Given the description of an element on the screen output the (x, y) to click on. 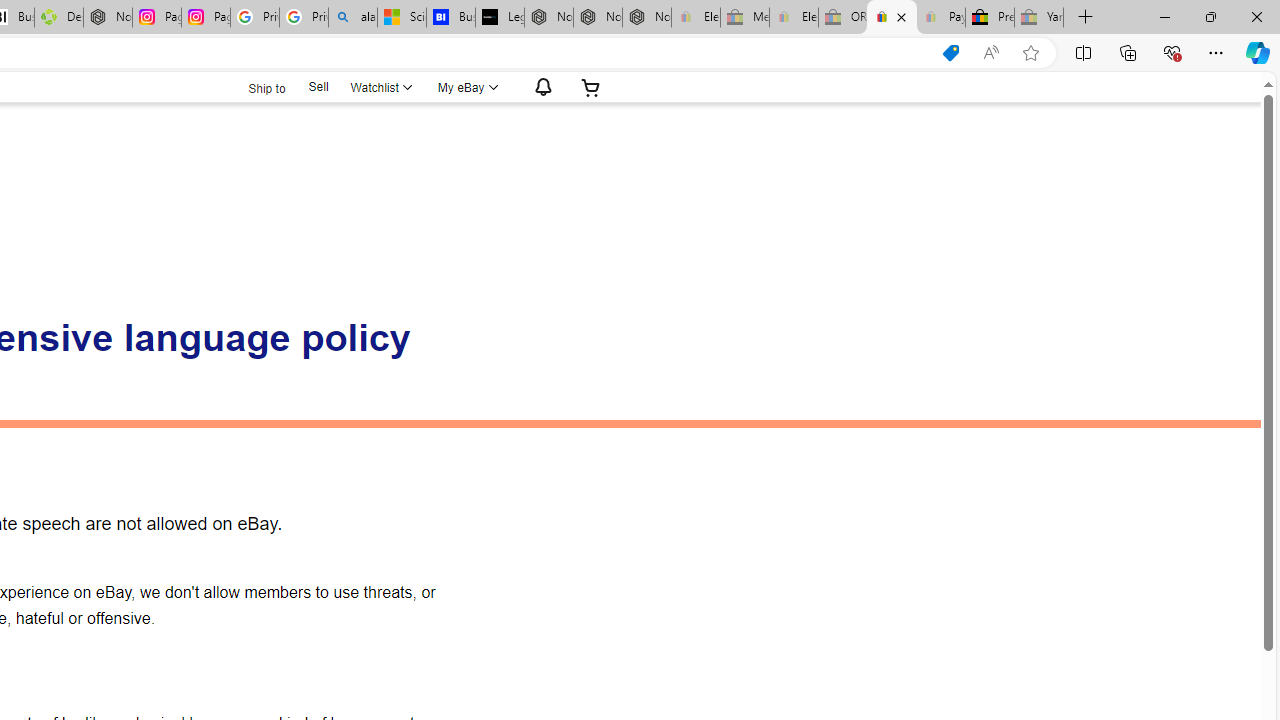
Your shopping cart (591, 87)
Watchlist (380, 87)
Ship to (253, 88)
My eBay (466, 87)
